Given the description of an element on the screen output the (x, y) to click on. 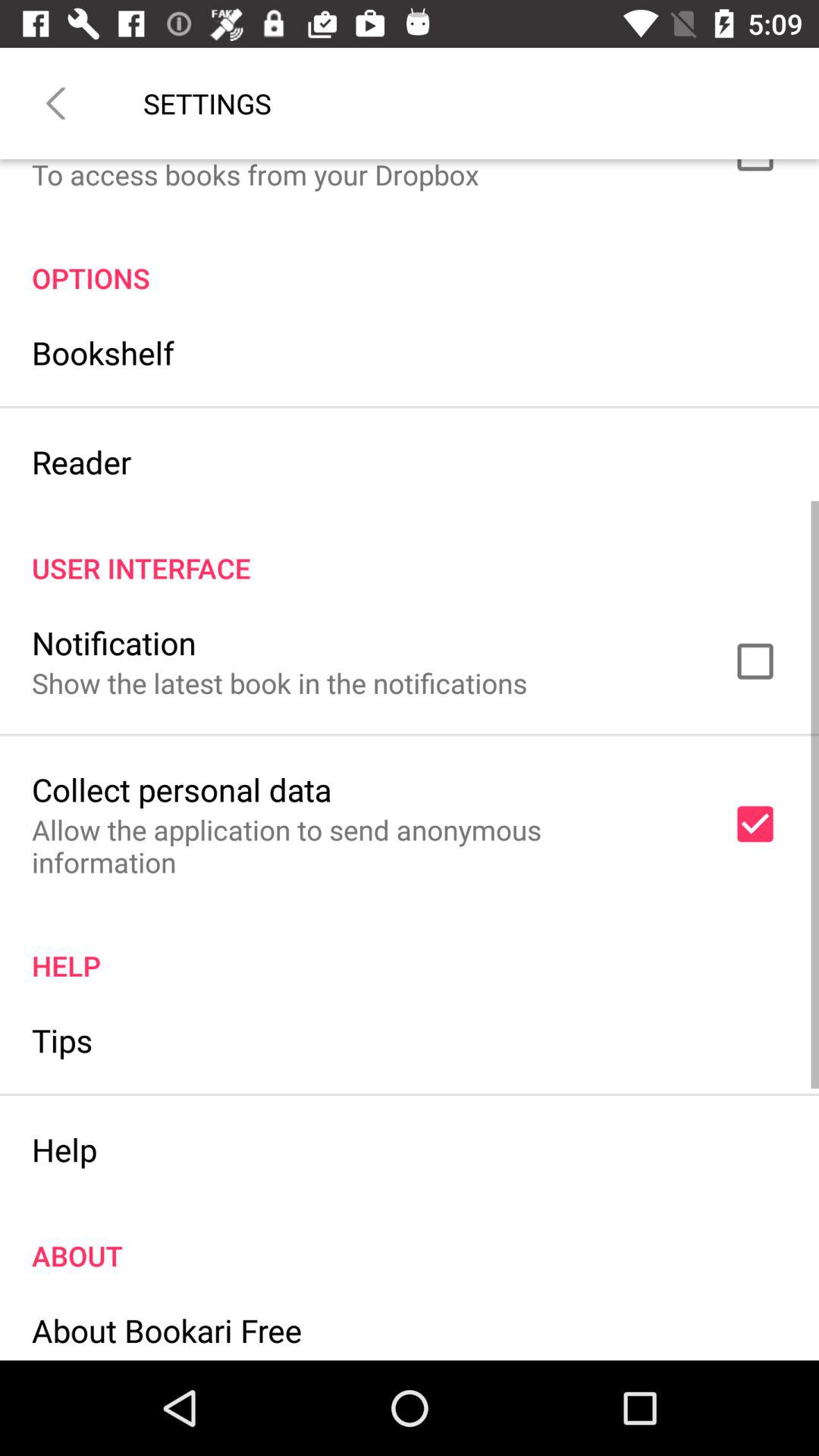
turn on icon below the about item (166, 1329)
